Given the description of an element on the screen output the (x, y) to click on. 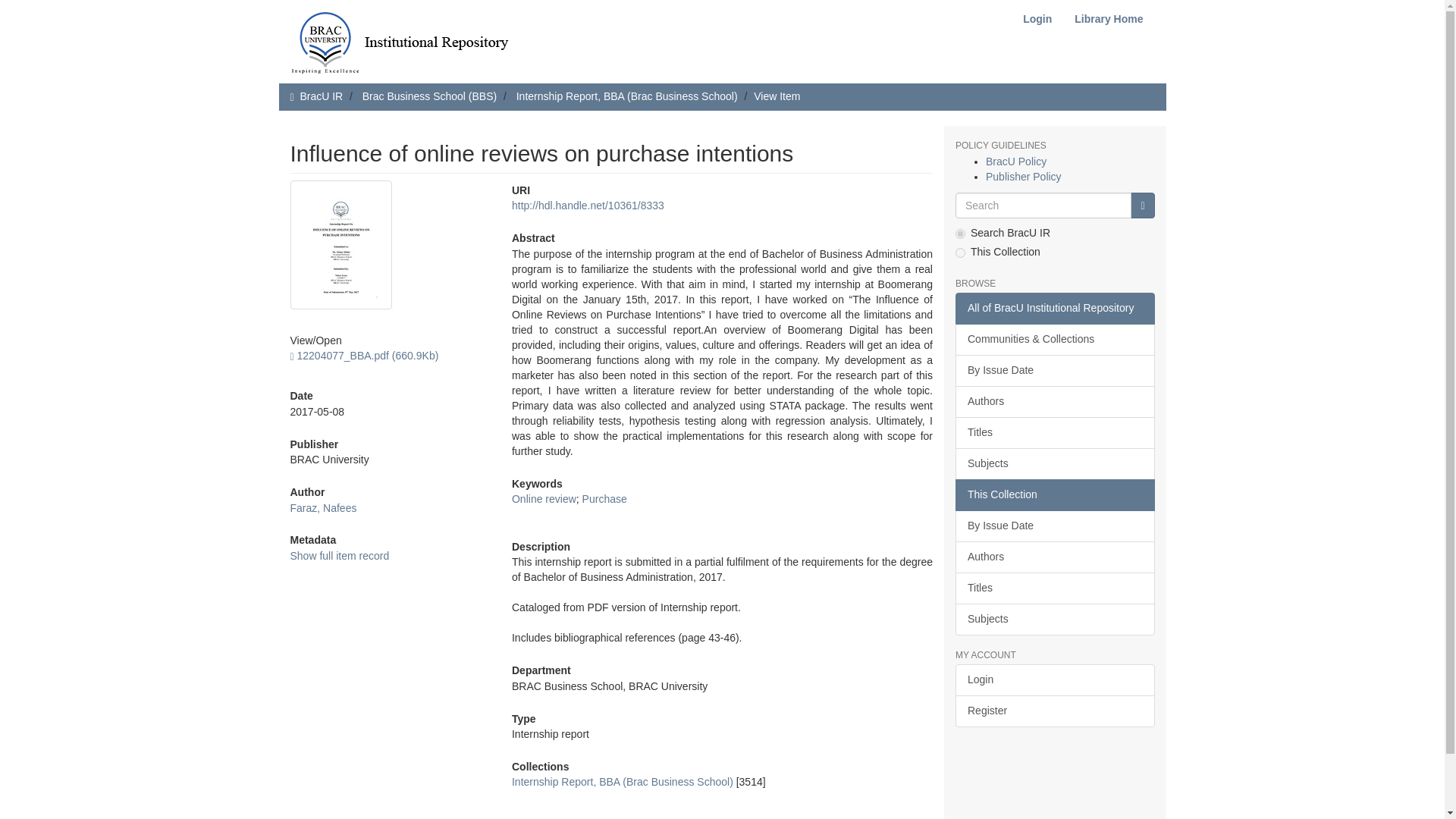
BracU Policy (1015, 161)
BracU IR (320, 96)
Authors (1054, 401)
Titles (1054, 432)
Authors (1054, 557)
Online review (544, 499)
By Issue Date (1054, 370)
Subjects (1054, 463)
Library Home (1108, 19)
Purchase (604, 499)
By Issue Date (1054, 526)
Publisher Policy (1023, 176)
Titles (1054, 588)
Go (1142, 205)
Faraz, Nafees (322, 508)
